Given the description of an element on the screen output the (x, y) to click on. 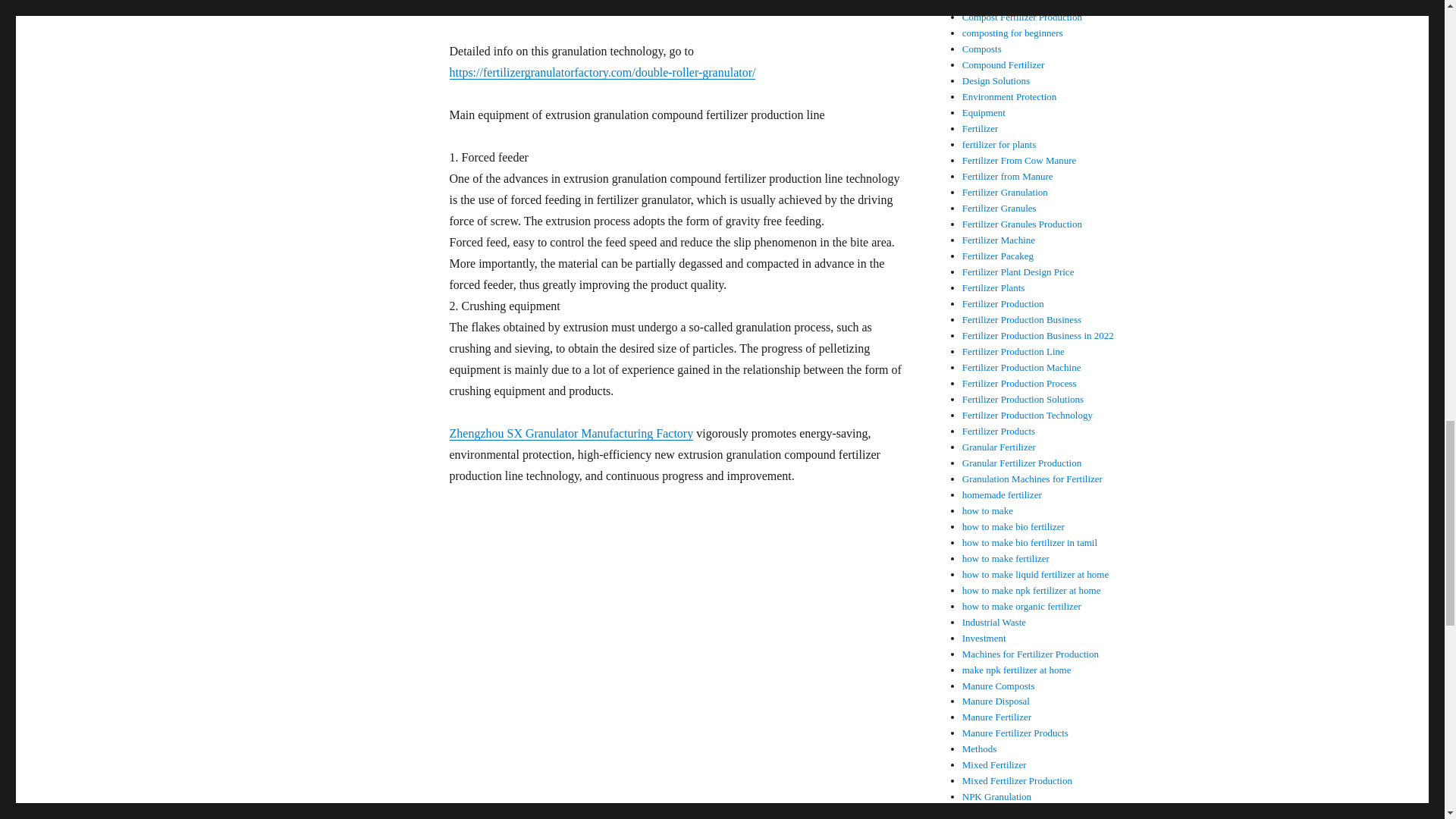
Zhengzhou SX Granulator Manufacturing Factory (570, 432)
